Given the description of an element on the screen output the (x, y) to click on. 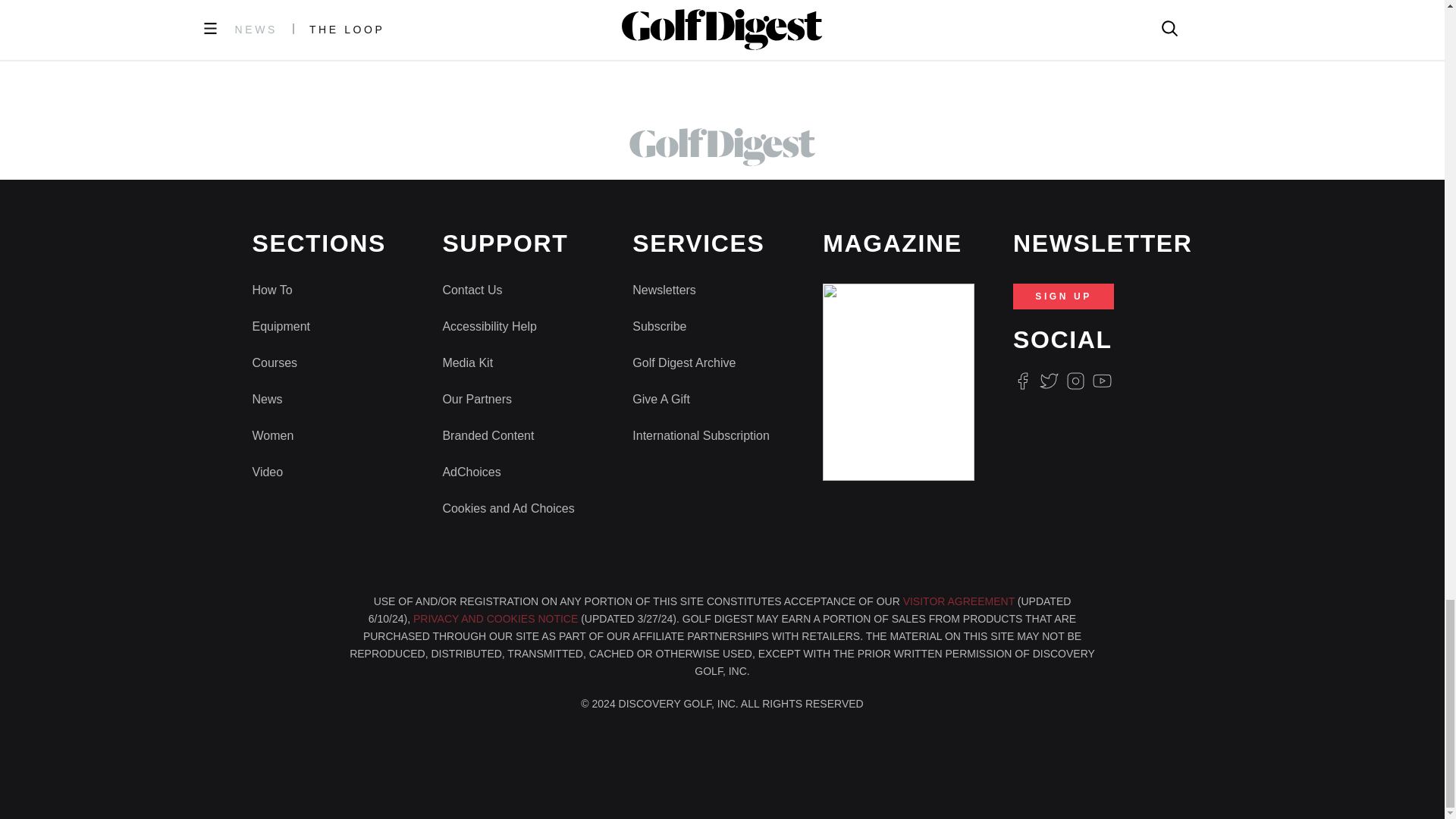
Facebook Logo (1022, 380)
Twitter Logo (1048, 380)
Youtube Icon (1102, 380)
Instagram Logo (1074, 380)
